Given the description of an element on the screen output the (x, y) to click on. 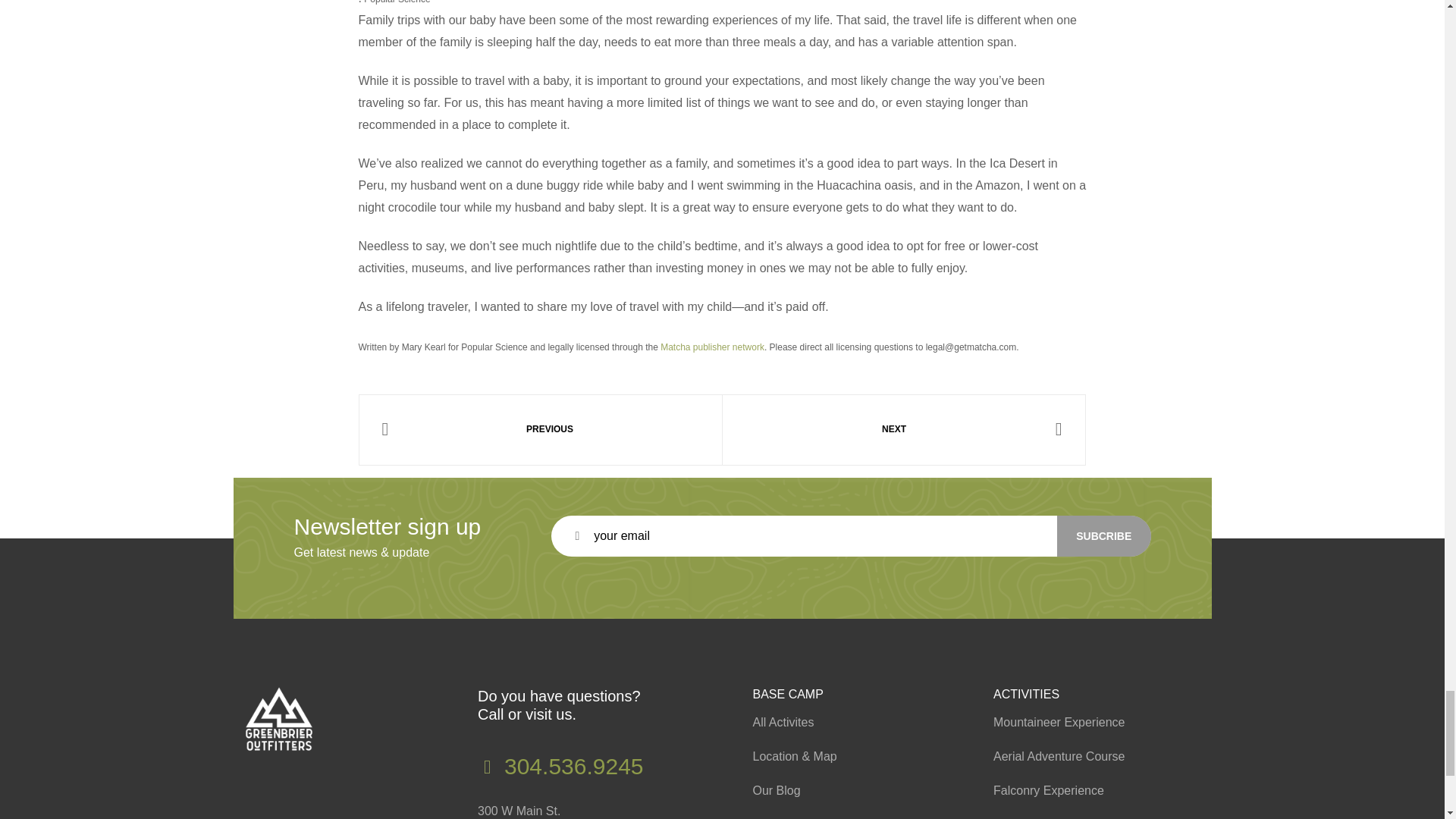
NEXT (904, 429)
PREVIOUS (540, 429)
All Activites (846, 722)
SUBCRIBE (1104, 535)
Matcha publisher network (712, 347)
